Given the description of an element on the screen output the (x, y) to click on. 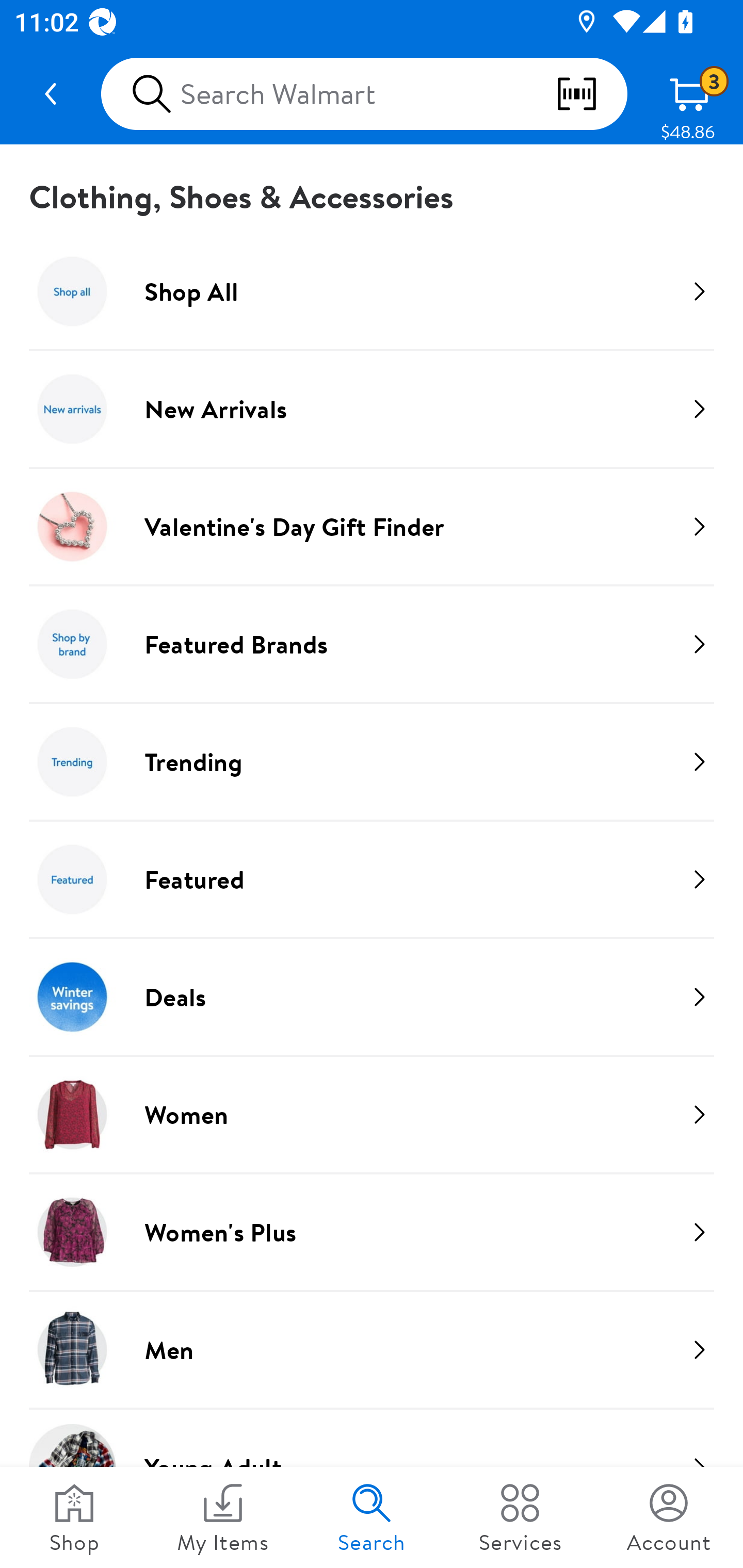
Navigate up (50, 93)
Search Walmart scan barcodes qr codes and more (364, 94)
scan barcodes qr codes and more (591, 94)
Shop All (371, 291)
New Arrivals (371, 409)
Valentine's Day Gift Finder (371, 526)
Featured Brands (371, 644)
Trending (371, 762)
Featured (371, 879)
Deals (371, 997)
Women (371, 1114)
Women's Plus (371, 1232)
Men (371, 1350)
Shop (74, 1517)
My Items (222, 1517)
Services (519, 1517)
Account (668, 1517)
